Given the description of an element on the screen output the (x, y) to click on. 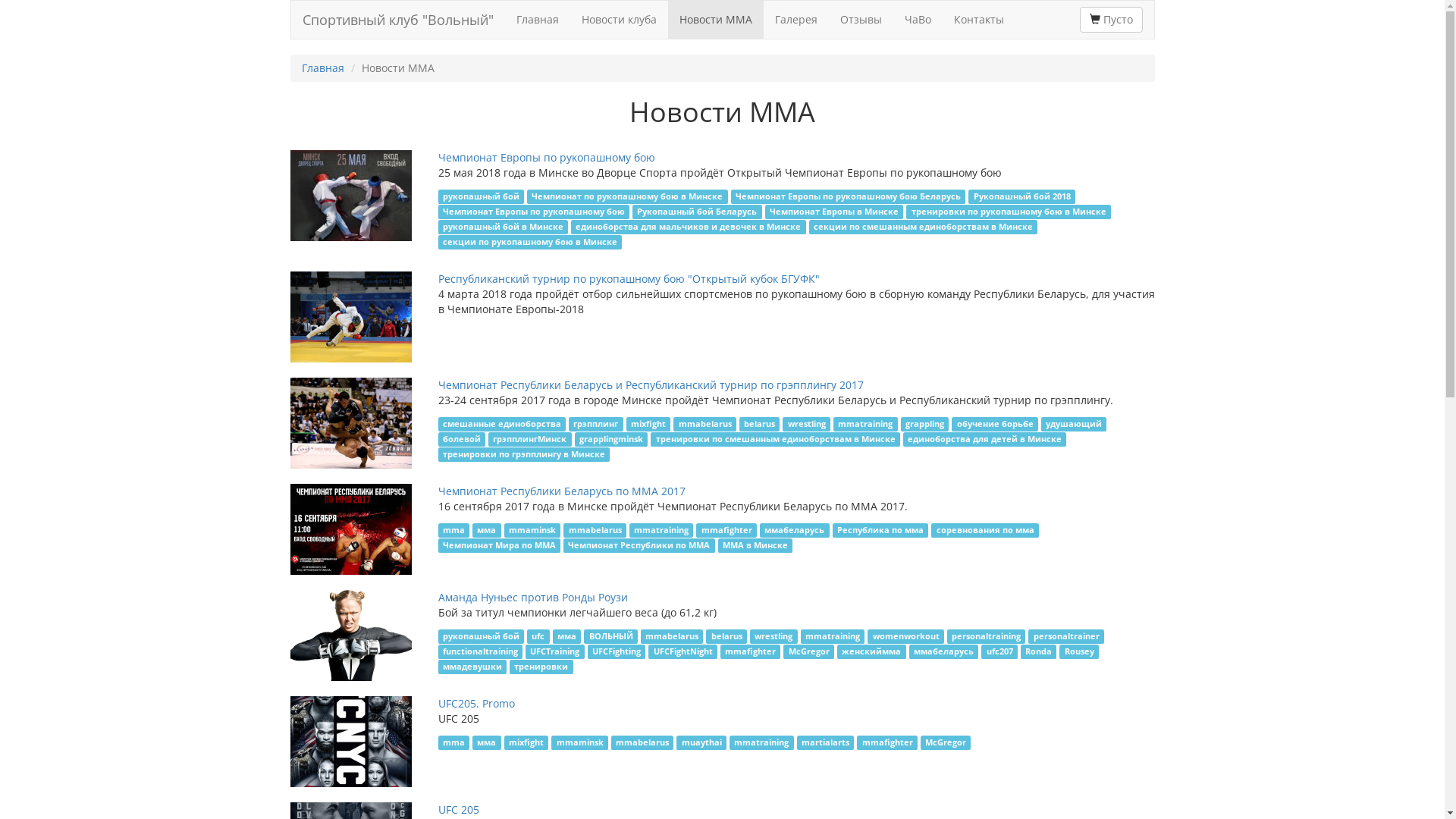
mixfight Element type: text (526, 742)
belarus Element type: text (726, 636)
Ronda Element type: text (1038, 651)
mma Element type: text (454, 742)
wrestling Element type: text (773, 636)
mmatraining Element type: text (865, 424)
mmatraining Element type: text (832, 636)
McGregor Element type: text (945, 742)
belarus Element type: text (759, 424)
grappling Element type: text (924, 424)
McGregor Element type: text (808, 651)
mmatraining Element type: text (661, 530)
mmaminsk Element type: text (532, 530)
mmabelarus Element type: text (594, 530)
mmabelarus Element type: text (704, 424)
mixfight Element type: text (648, 424)
wrestling Element type: text (806, 424)
mmafighter Element type: text (750, 651)
mmabelarus Element type: text (642, 742)
functionaltraining Element type: text (480, 651)
Rousey Element type: text (1078, 651)
mmaminsk Element type: text (579, 742)
personaltraining Element type: text (986, 636)
UFC 205 Element type: text (458, 809)
mmafighter Element type: text (886, 742)
UFC205. Promo Element type: text (476, 703)
mmabelarus Element type: text (671, 636)
ufc207 Element type: text (999, 651)
mmafighter Element type: text (726, 530)
grapplingminsk Element type: text (611, 439)
martialarts Element type: text (825, 742)
UFCTraining Element type: text (554, 651)
womenworkout Element type: text (905, 636)
personaltrainer Element type: text (1066, 636)
mmatraining Element type: text (761, 742)
UFCFightNight Element type: text (682, 651)
ufc Element type: text (538, 636)
muaythai Element type: text (701, 742)
mma Element type: text (454, 530)
UFCFighting Element type: text (616, 651)
